Given the description of an element on the screen output the (x, y) to click on. 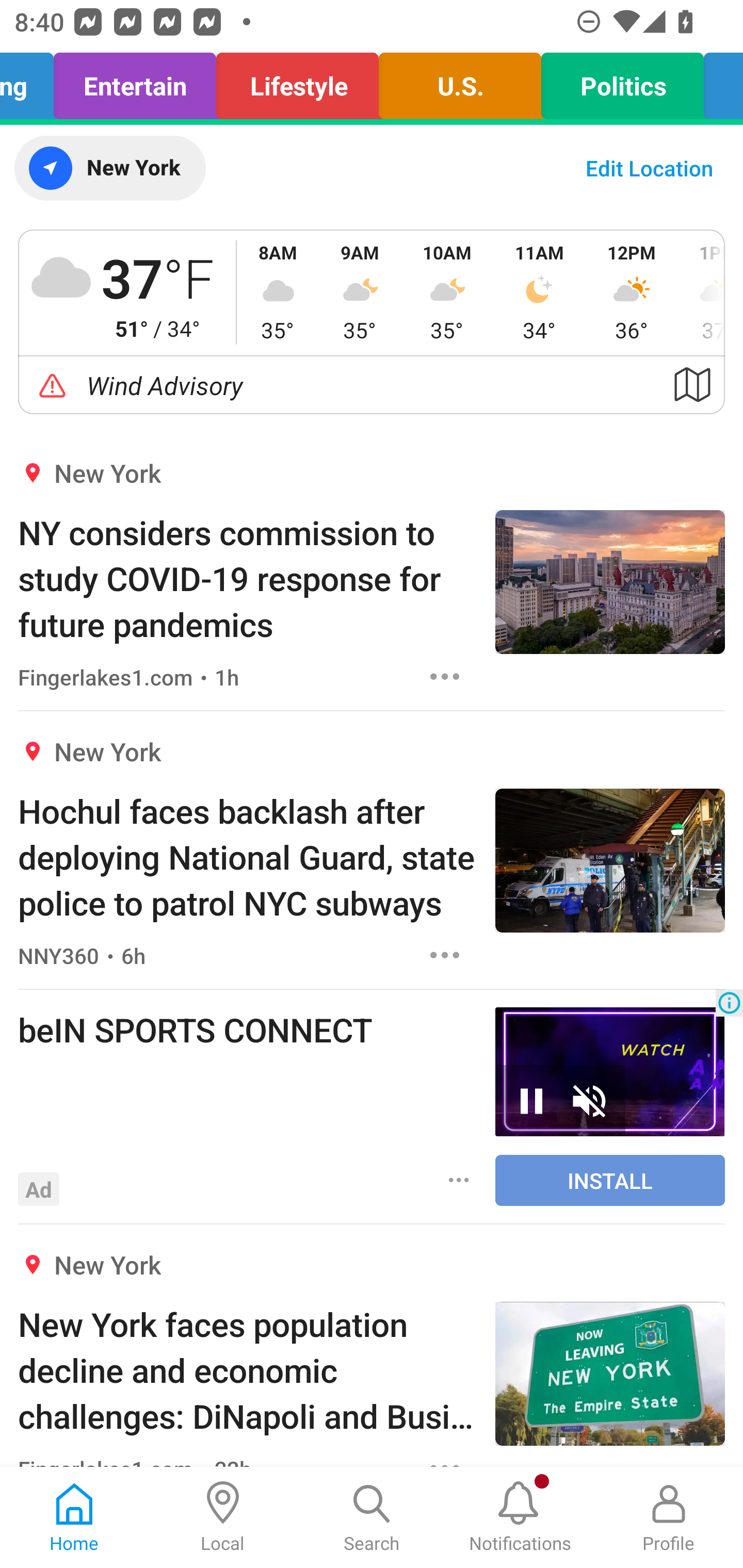
Entertain (135, 81)
Lifestyle (297, 81)
U.S. (459, 81)
Politics (622, 81)
New York (109, 168)
Edit Location (648, 168)
8AM 35° (277, 291)
9AM 35° (359, 291)
10AM 35° (447, 291)
11AM 34° (539, 291)
12PM 36° (631, 291)
Wind Advisory (371, 384)
Options (444, 676)
Options (444, 954)
Ad Choices Icon (729, 1002)
beIN SPORTS CONNECT (247, 1029)
INSTALL (610, 1180)
Options (459, 1179)
Local (222, 1517)
Search (371, 1517)
Notifications, New notification Notifications (519, 1517)
Profile (668, 1517)
